Given the description of an element on the screen output the (x, y) to click on. 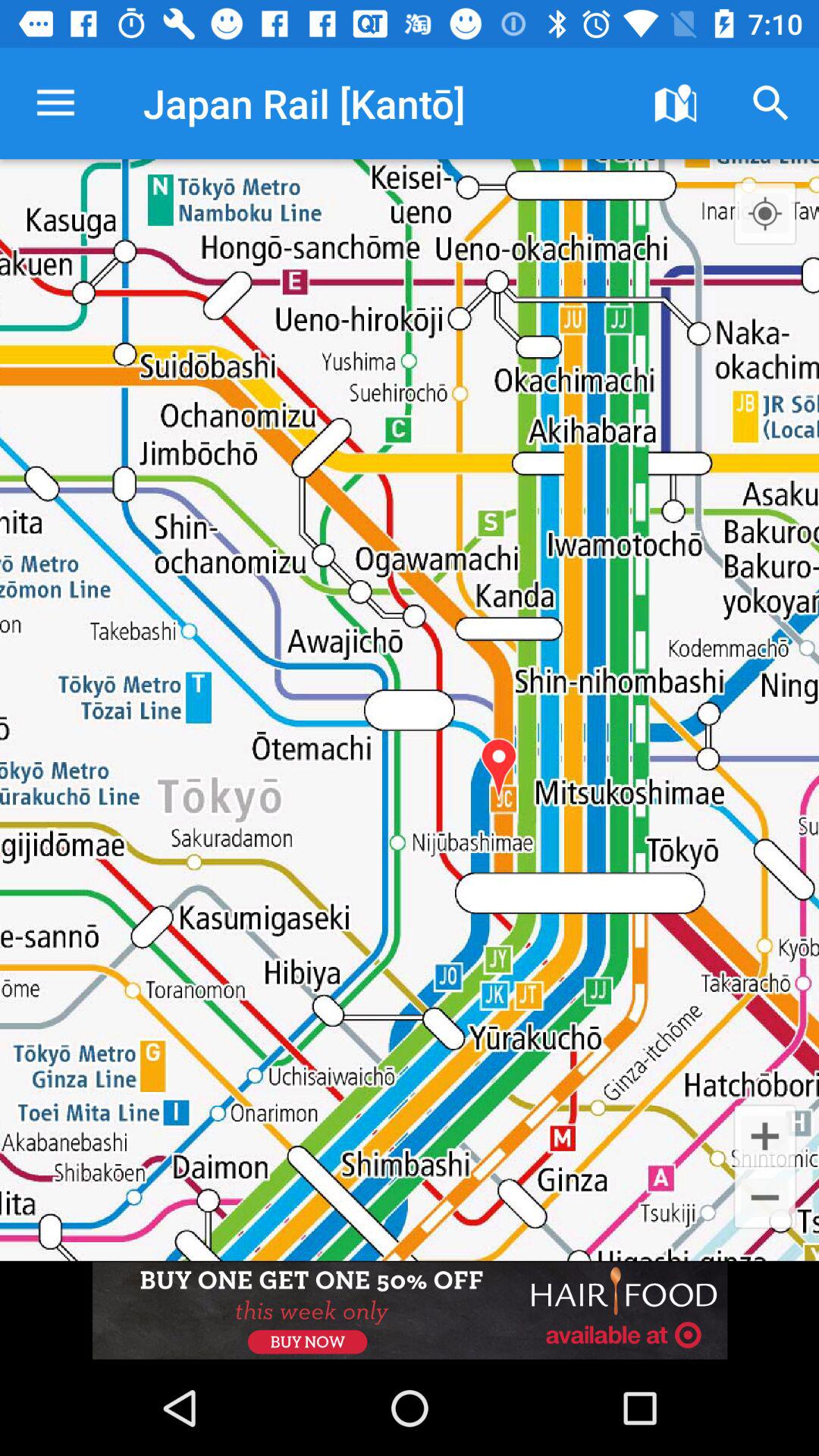
share the article (409, 1310)
